Given the description of an element on the screen output the (x, y) to click on. 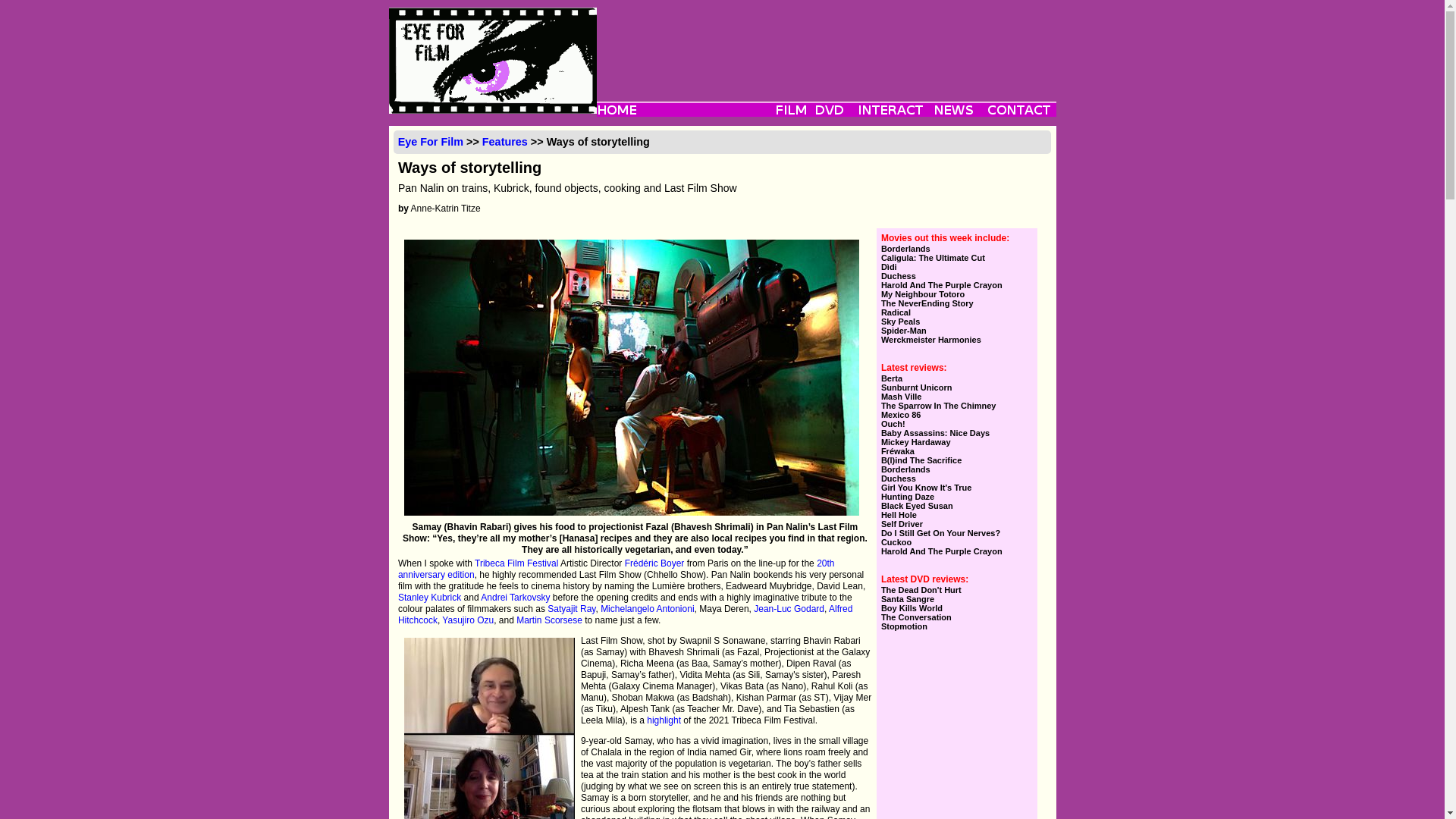
Yasujiro Ozu (467, 620)
Stanley Kubrick (429, 597)
Martin Scorsese (549, 620)
Tribeca Film Festival (515, 562)
Eye For Film (430, 141)
highlight (663, 719)
Andrei Tarkovsky (515, 597)
Satyajit Ray (571, 608)
Jean-Luc Godard (789, 608)
Alfred Hitchcock (624, 614)
